Given the description of an element on the screen output the (x, y) to click on. 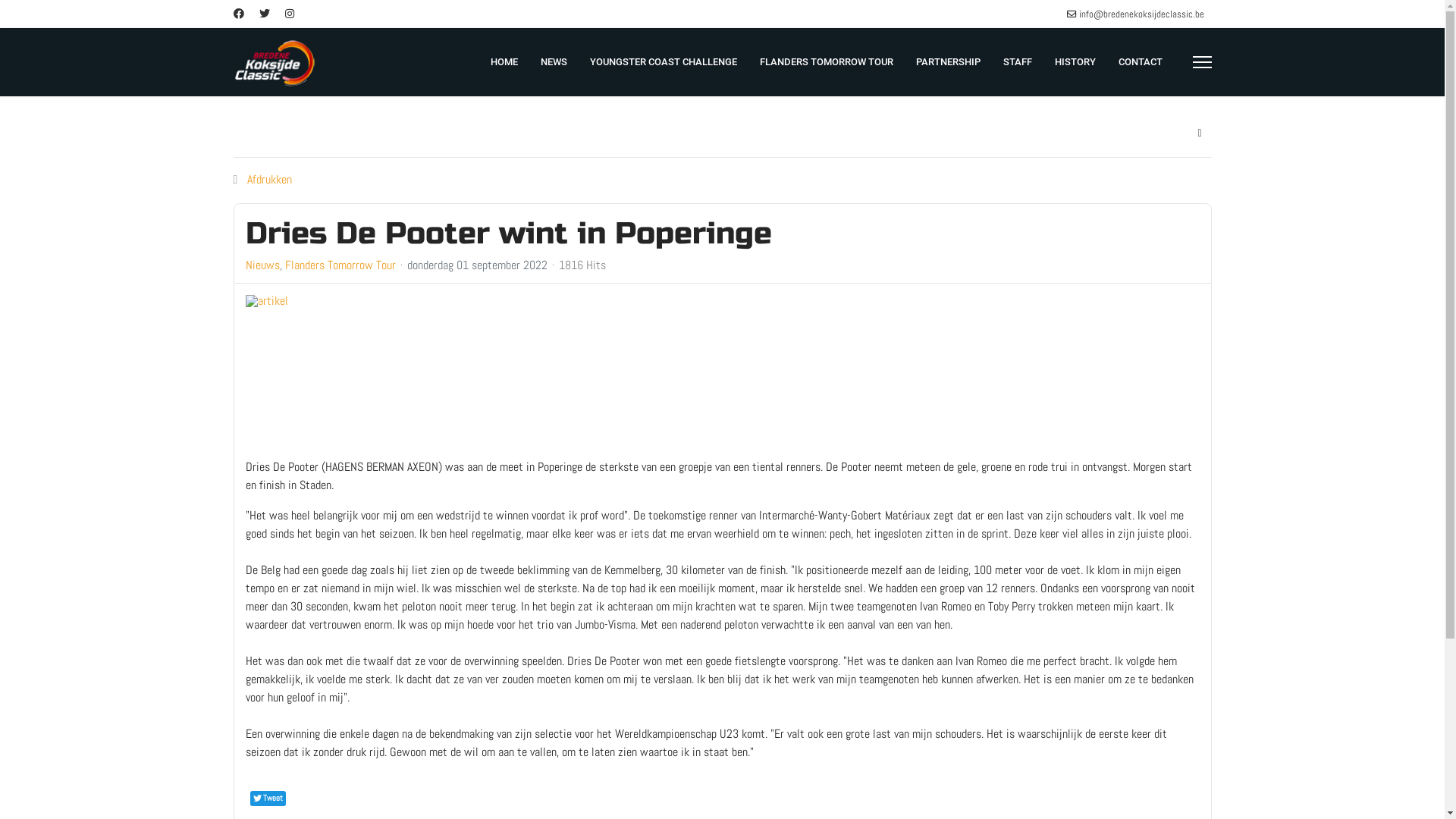
NEWS Element type: text (553, 62)
Nieuws Element type: text (262, 265)
HOME Element type: text (504, 62)
artikel Element type: hover (343, 370)
PARTNERSHIP Element type: text (947, 62)
FLANDERS TOMORROW TOUR Element type: text (825, 62)
Menu Element type: hover (1201, 62)
Afdrukken Element type: text (269, 179)
Tweet Element type: text (267, 798)
HISTORY Element type: text (1075, 62)
YOUNGSTER COAST CHALLENGE Element type: text (662, 62)
Flanders Tomorrow Tour Element type: text (340, 265)
Sign In Element type: text (1199, 133)
CONTACT Element type: text (1140, 62)
STAFF Element type: text (1017, 62)
info@bredenekoksijdeclassic.be Element type: text (1140, 14)
